Given the description of an element on the screen output the (x, y) to click on. 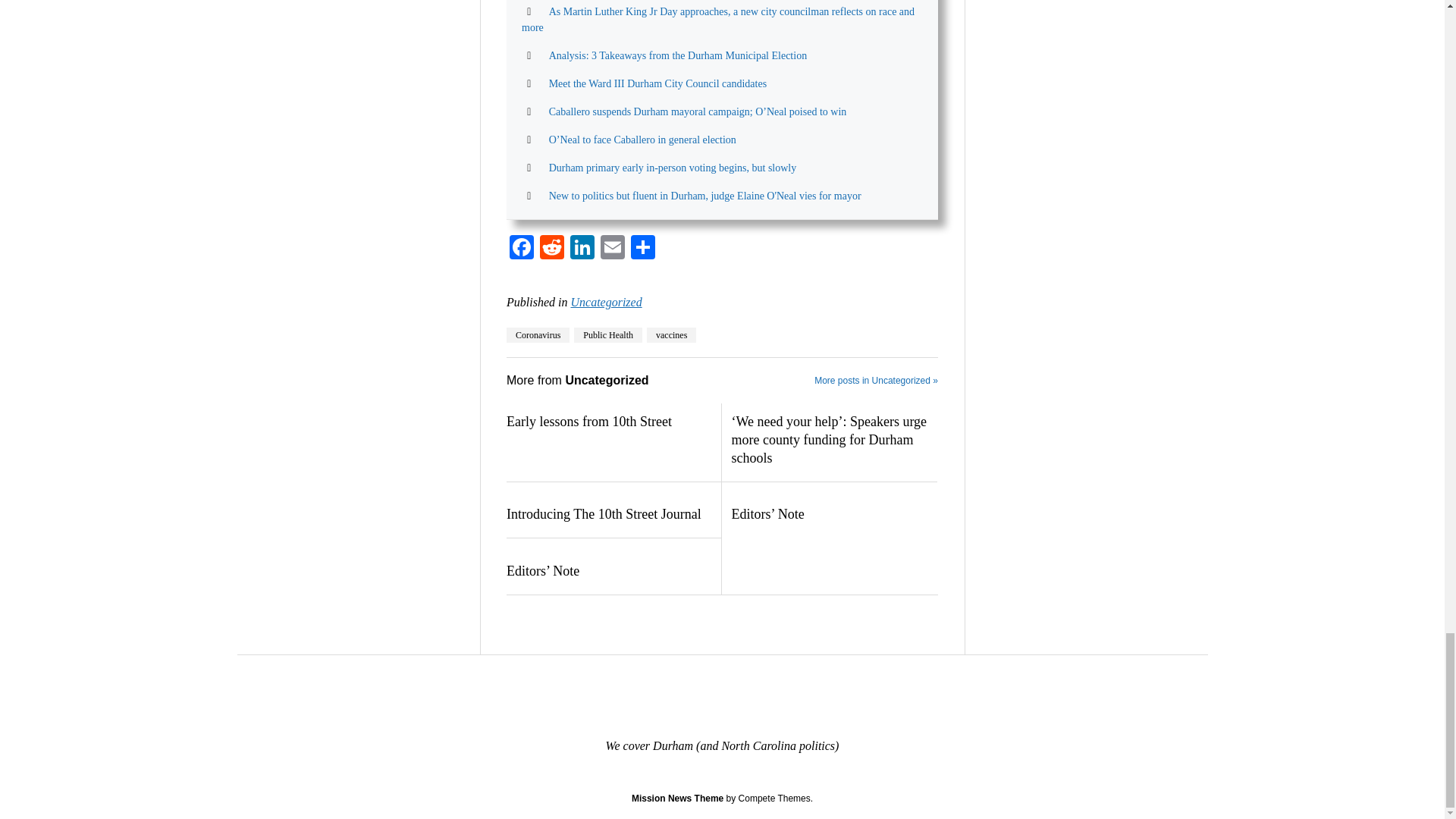
Analysis: 3 Takeaways from the Durham Municipal Election (678, 55)
View all posts tagged Coronavirus (537, 335)
View all posts in Uncategorized (606, 301)
Reddit (552, 248)
LinkedIn (581, 248)
Facebook (521, 248)
Durham primary early in-person voting begins, but slowly (672, 167)
Meet the Ward III Durham City Council candidates (657, 83)
Email (611, 248)
View all posts tagged vaccines (670, 335)
View all posts tagged Public Health (607, 335)
